Given the description of an element on the screen output the (x, y) to click on. 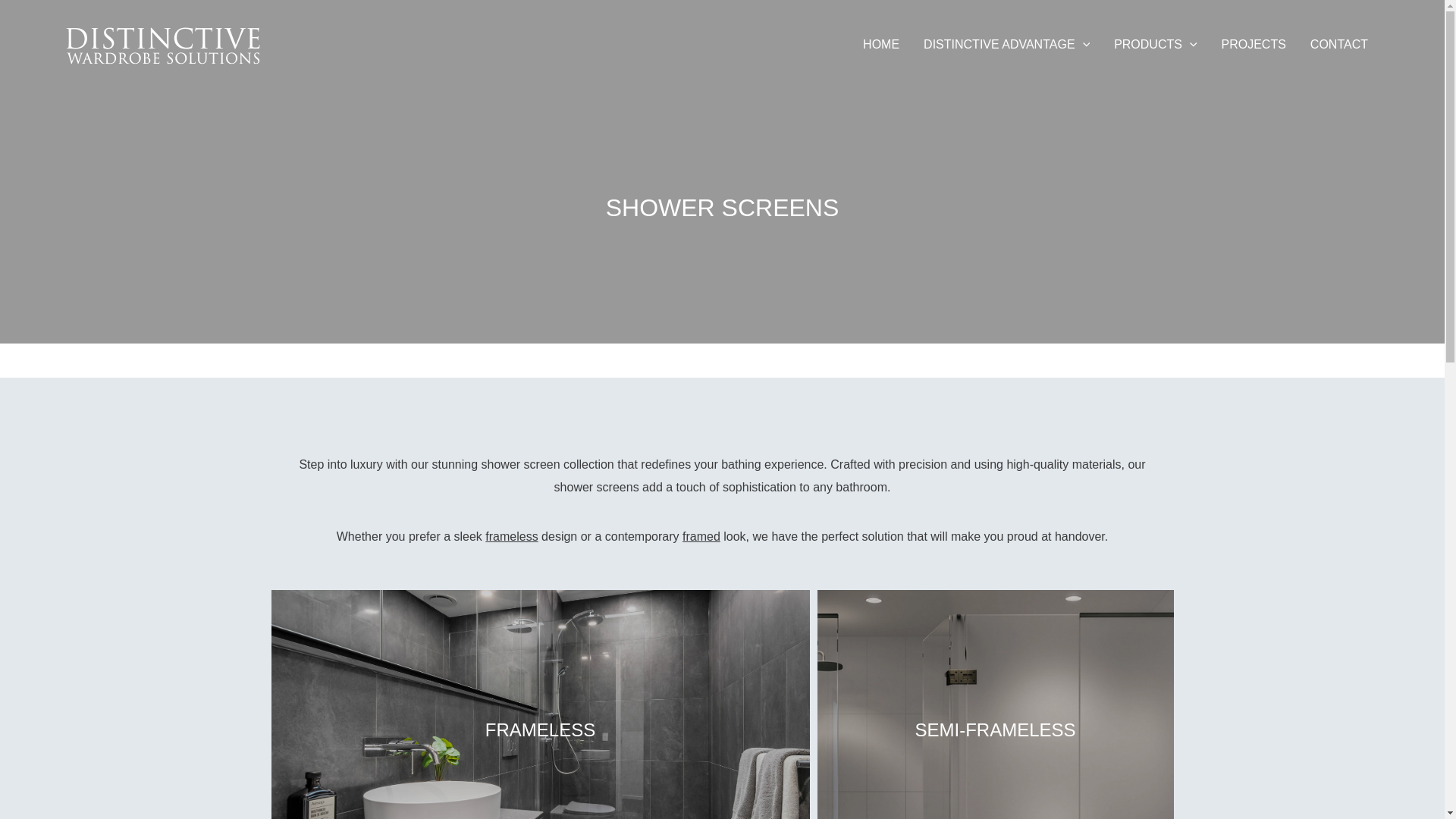
DISTINCTIVE ADVANTAGE (1006, 44)
CONTACT (1339, 44)
PRODUCTS (1155, 44)
HOME (880, 44)
PROJECTS (1253, 44)
